Given the description of an element on the screen output the (x, y) to click on. 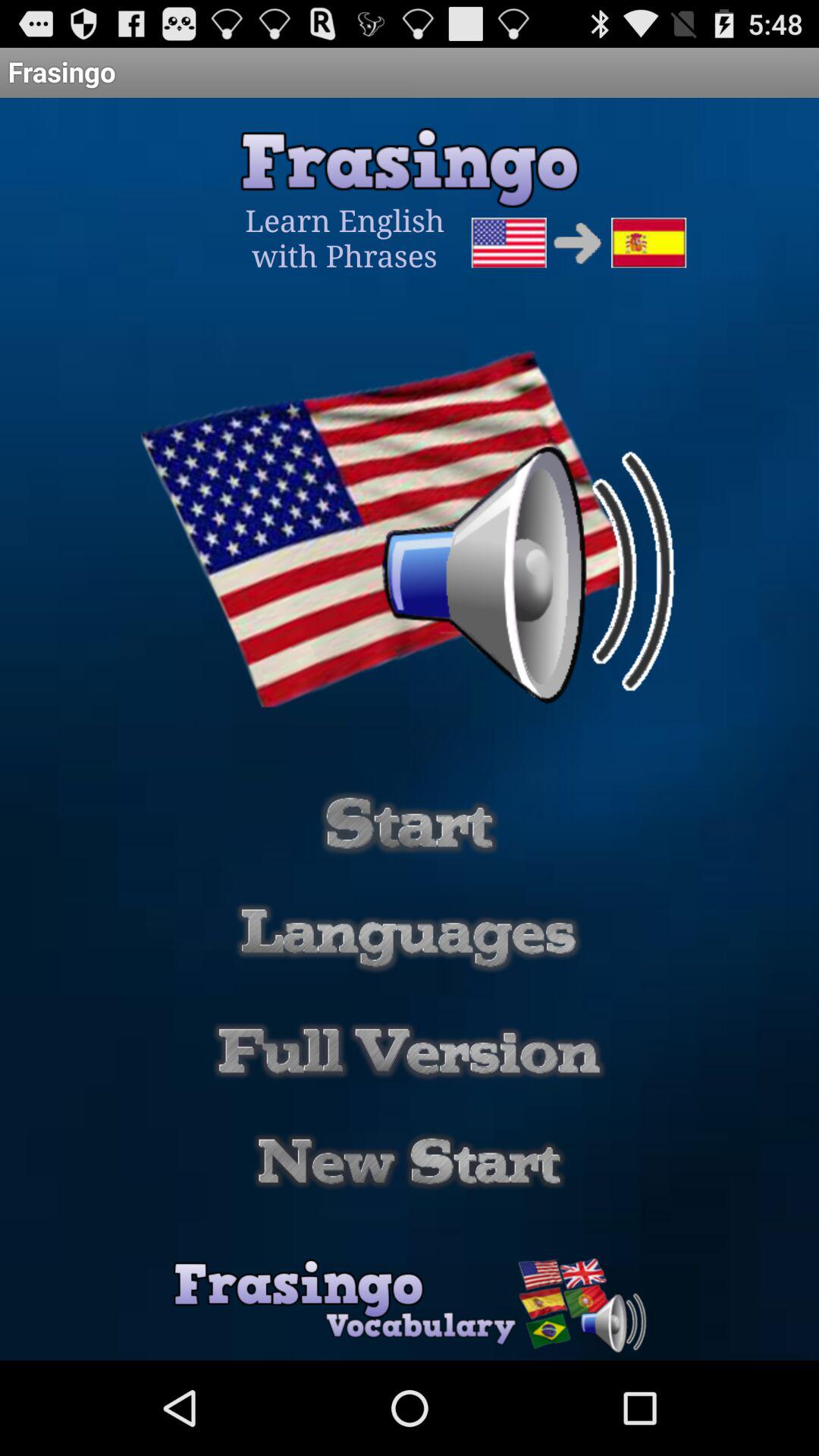
see full version (409, 1051)
